Given the description of an element on the screen output the (x, y) to click on. 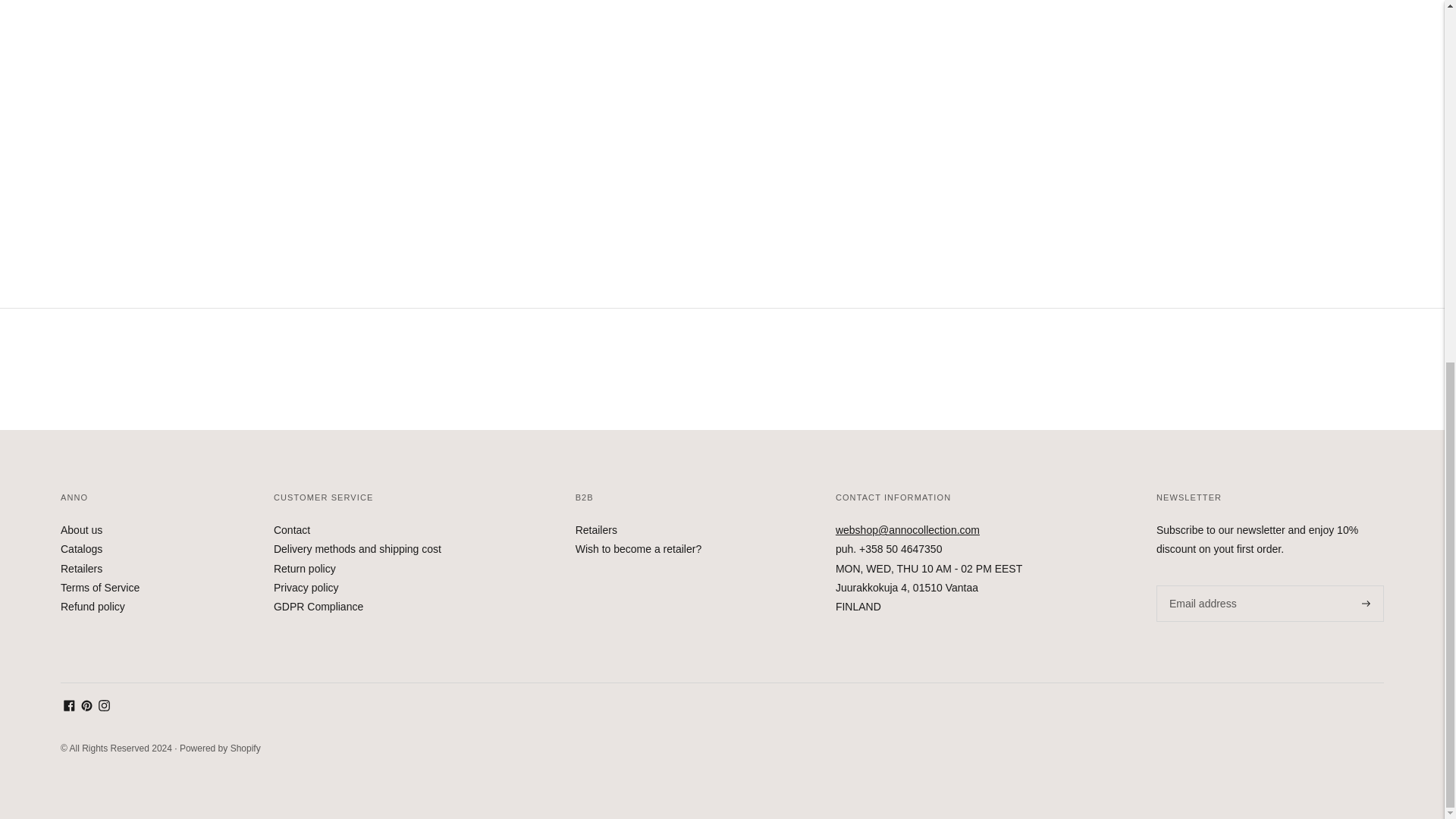
Anno Collection on Facebook (69, 707)
Anno Collection on Pinterest (87, 707)
Anno Collection on Instagram (104, 707)
